Given the description of an element on the screen output the (x, y) to click on. 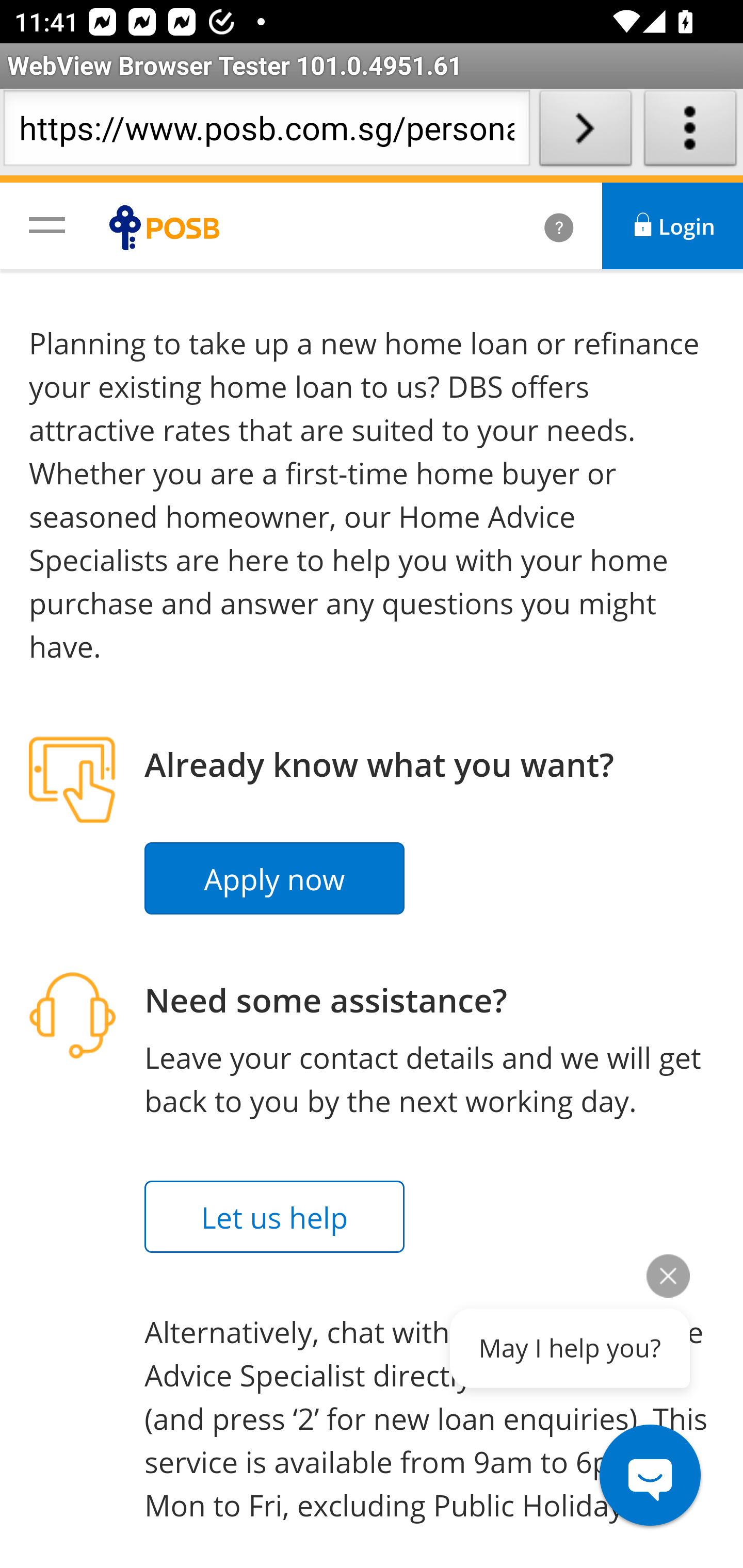
Load URL (585, 132)
About WebView (690, 132)
javascript:void(0); (46, 223)
POSB logo (169, 226)
ﱲ (537, 226)
Login  Login (673, 225)
Apply now (275, 878)
Let us help (275, 1216)
